Given the description of an element on the screen output the (x, y) to click on. 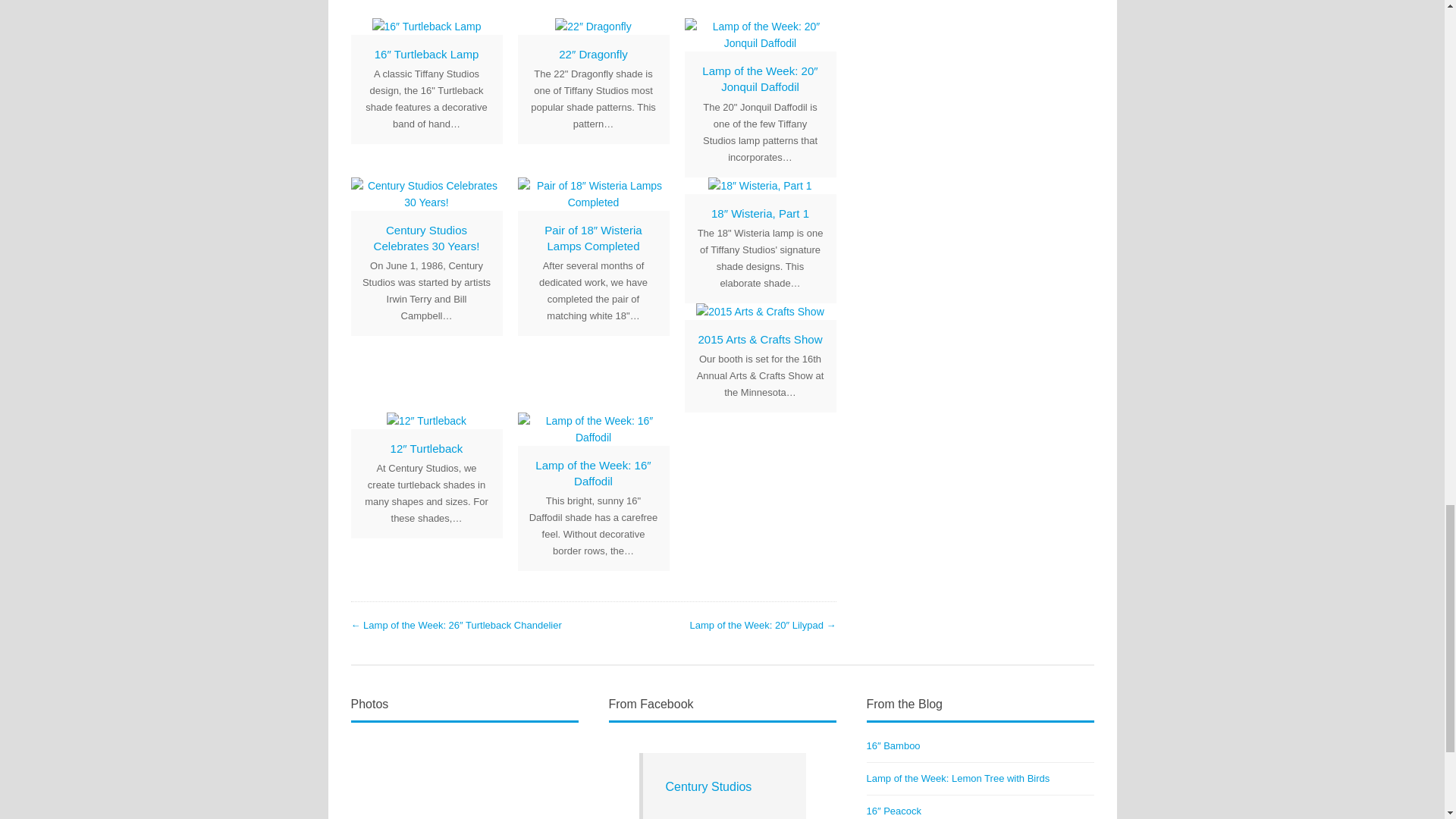
Century Studios Celebrates 30 Years! (427, 237)
Century Studios Celebrates 30 Years! (426, 193)
Century Studios Celebrates 30 Years! (427, 237)
